Given the description of an element on the screen output the (x, y) to click on. 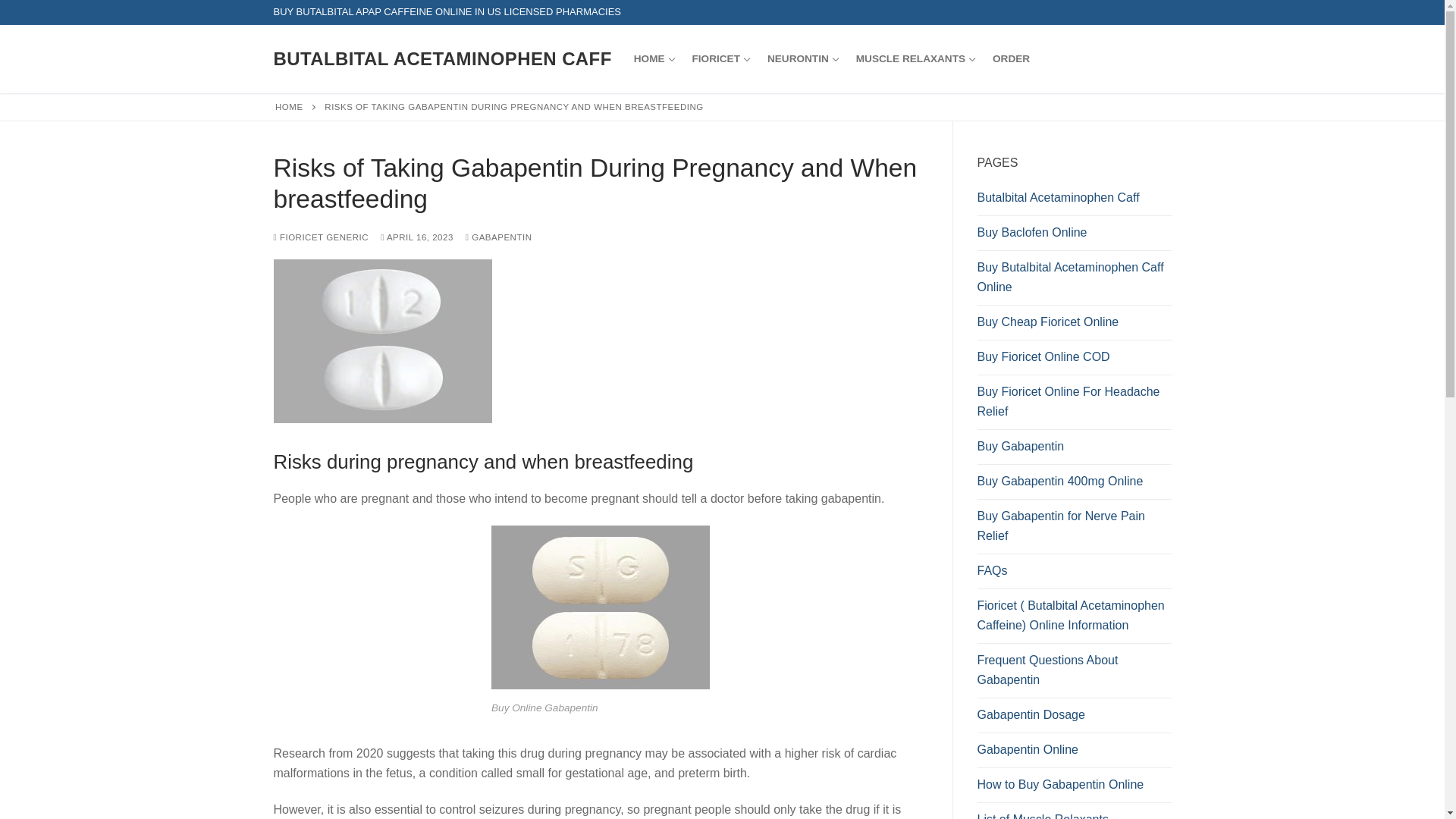
BUTALBITAL ACETAMINOPHEN CAFF (442, 58)
ORDER (1010, 59)
GABAPENTIN (498, 236)
HOME (719, 59)
APRIL 16, 2023 (913, 59)
FIORICET GENERIC (288, 106)
